Given the description of an element on the screen output the (x, y) to click on. 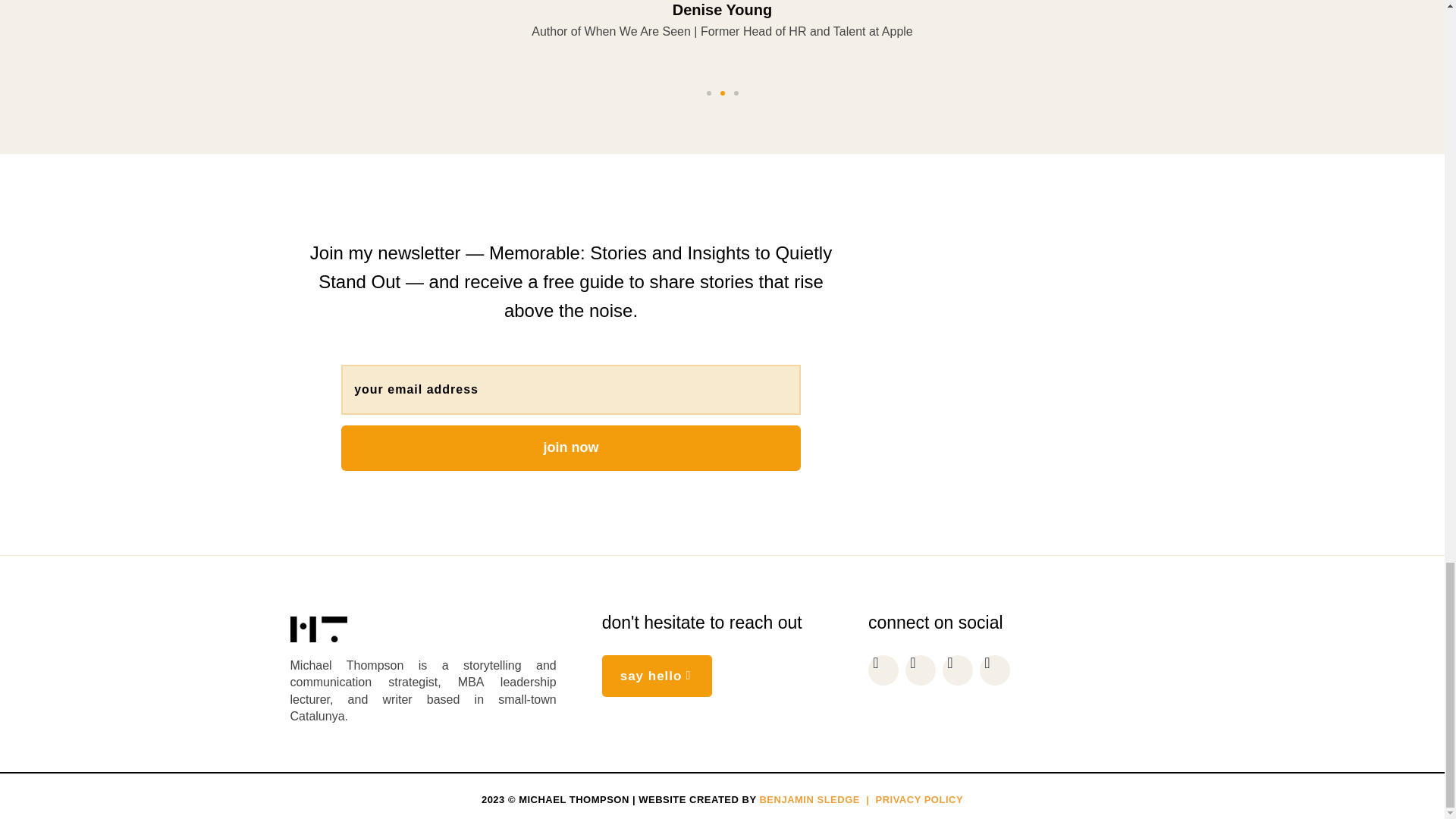
say hello (657, 675)
join now (570, 447)
